Given the description of an element on the screen output the (x, y) to click on. 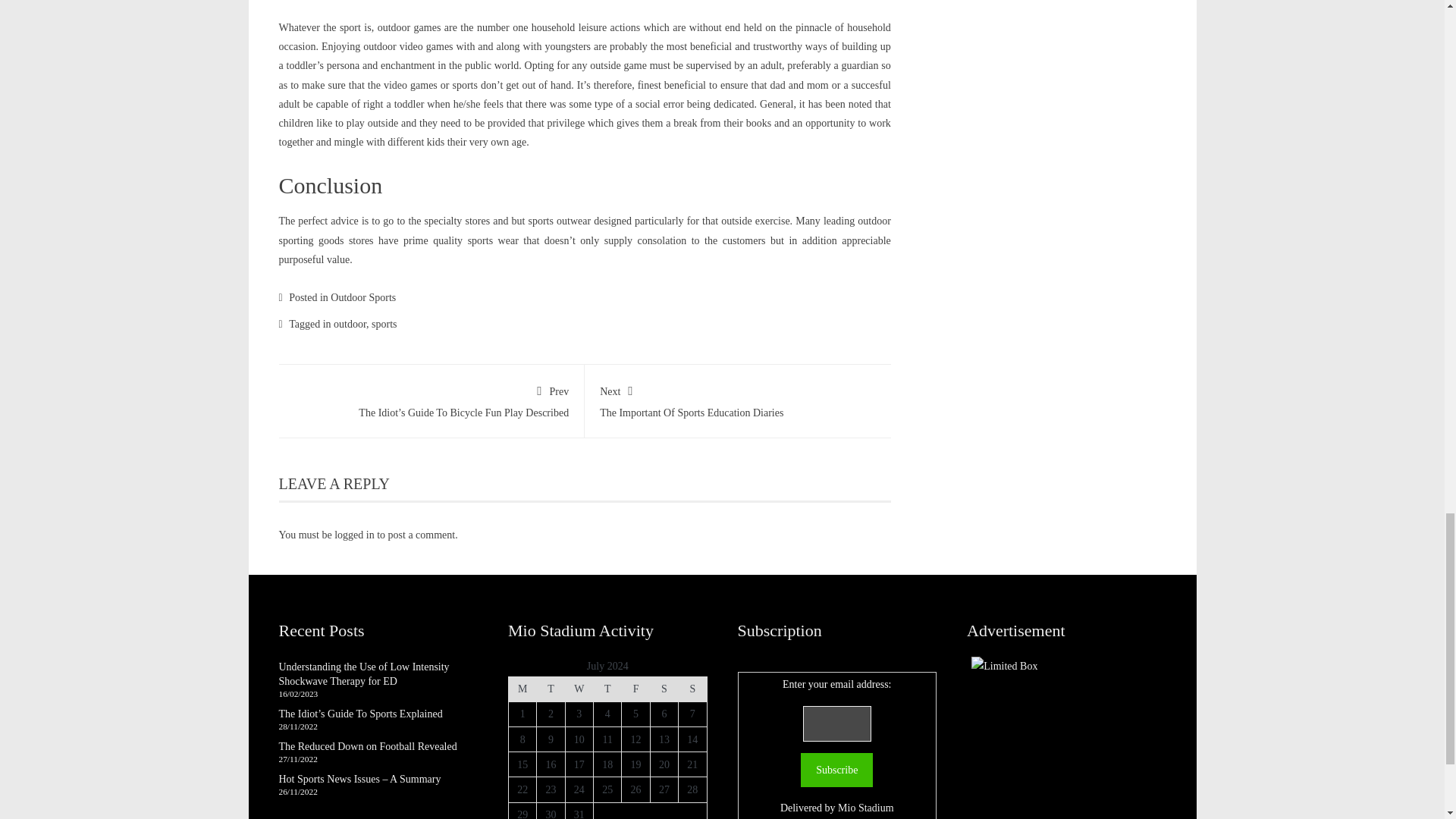
logged in (354, 534)
Thursday (607, 688)
Monday (521, 688)
Sunday (692, 688)
Saturday (663, 688)
Outdoor Sports (737, 398)
outdoor (363, 297)
Friday (349, 324)
Tuesday (635, 688)
Wednesday (550, 688)
sports (578, 688)
Subscribe (383, 324)
Limited Box (836, 769)
